Given the description of an element on the screen output the (x, y) to click on. 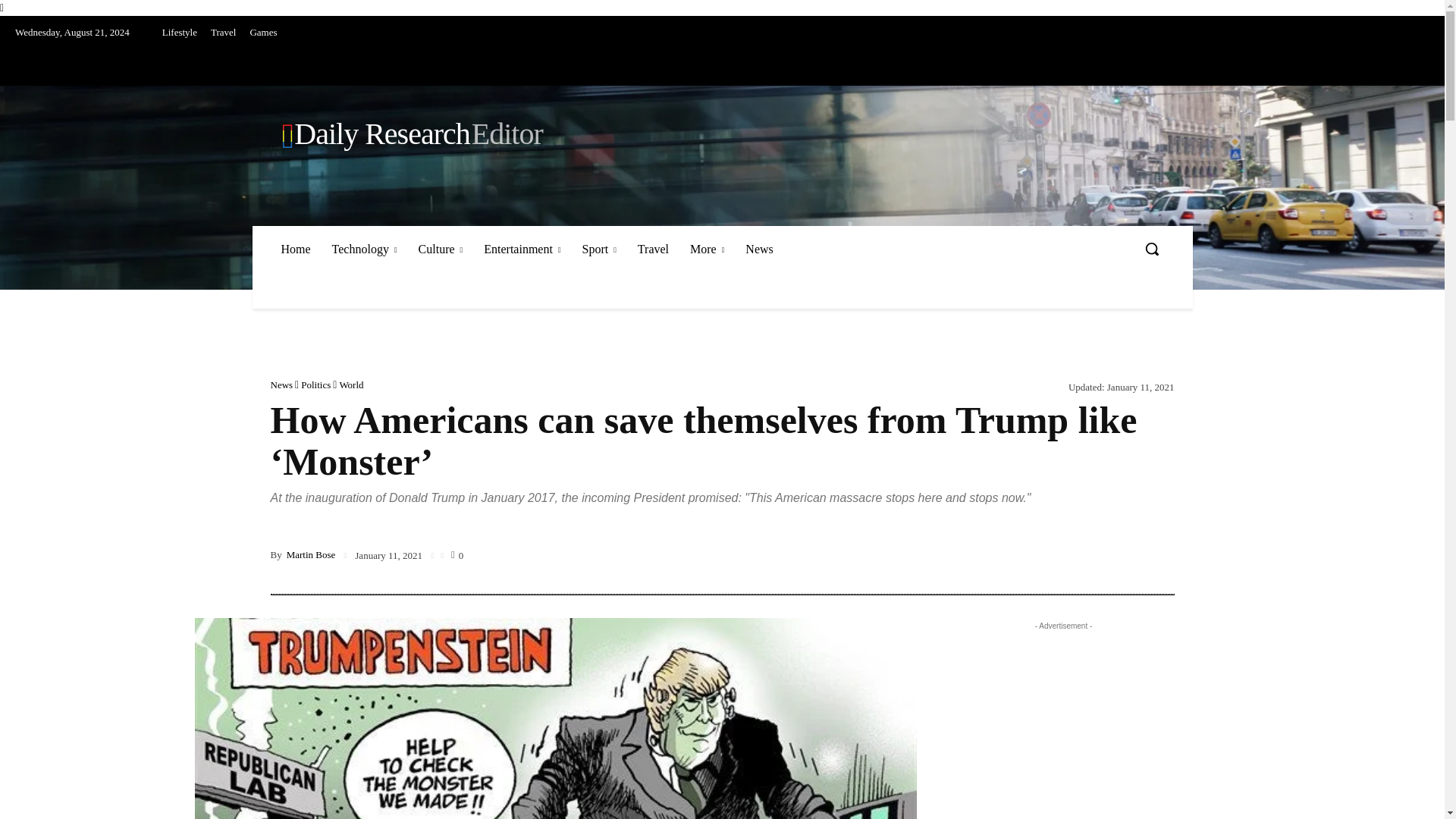
Home (294, 248)
Technology (364, 248)
Lifestyle (179, 32)
Travel (223, 32)
Games (263, 32)
